Given the description of an element on the screen output the (x, y) to click on. 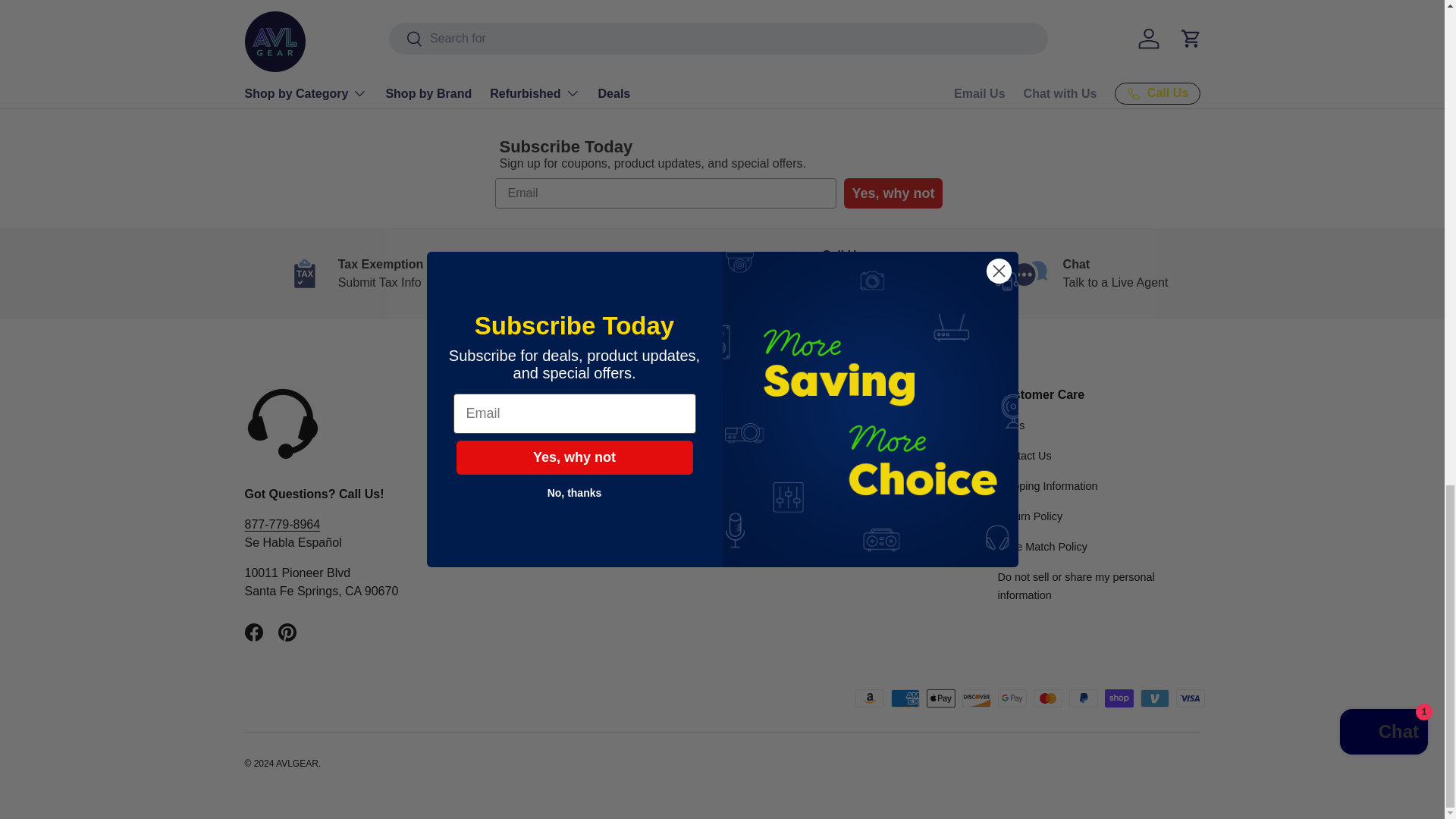
AVLGEAR on Facebook (252, 632)
877-779-8964 (860, 273)
AVLGEAR on Pinterest (285, 632)
877-779-8964 (282, 523)
